Given the description of an element on the screen output the (x, y) to click on. 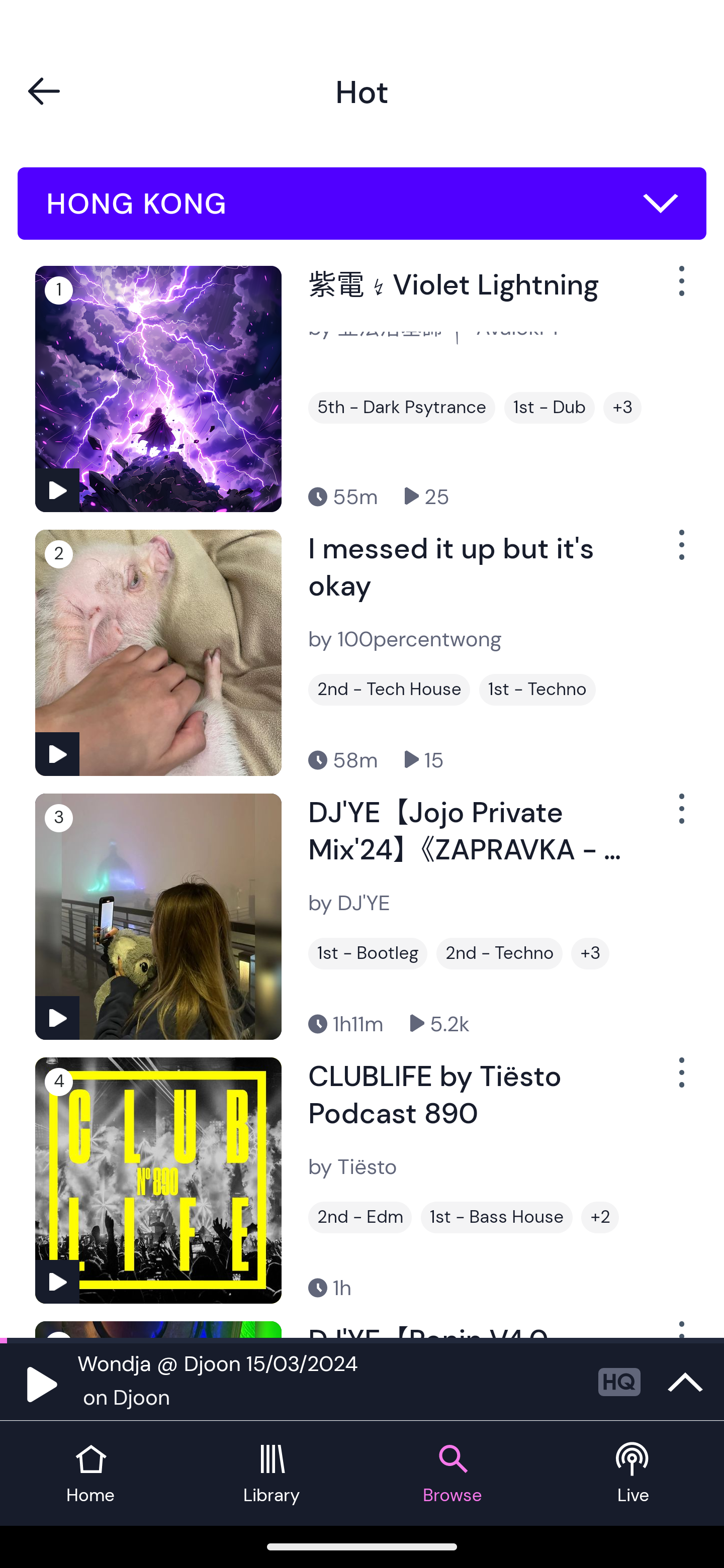
HONG KONG (361, 203)
Show Options Menu Button (679, 289)
5th - Dark Psytrance (401, 407)
1st - Dub (549, 407)
Show Options Menu Button (679, 552)
2nd - Tech House (388, 689)
1st - Techno (537, 689)
Show Options Menu Button (679, 815)
1st - Bootleg (367, 953)
2nd - Techno (499, 953)
Show Options Menu Button (679, 1079)
2nd - Edm (359, 1217)
1st - Bass House (496, 1217)
Home tab Home (90, 1473)
Library tab Library (271, 1473)
Browse tab Browse (452, 1473)
Live tab Live (633, 1473)
